Given the description of an element on the screen output the (x, y) to click on. 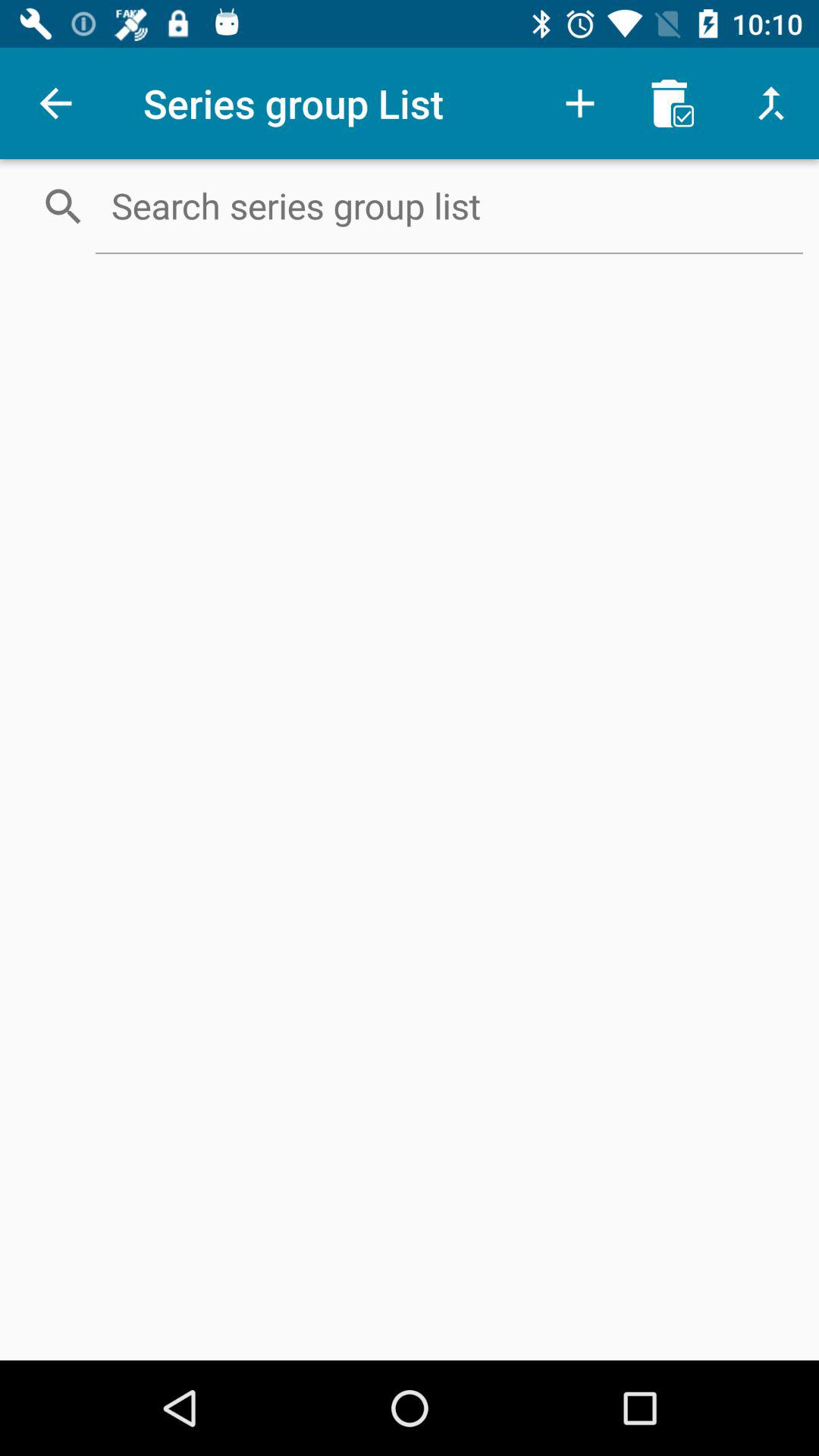
search bar (449, 205)
